Given the description of an element on the screen output the (x, y) to click on. 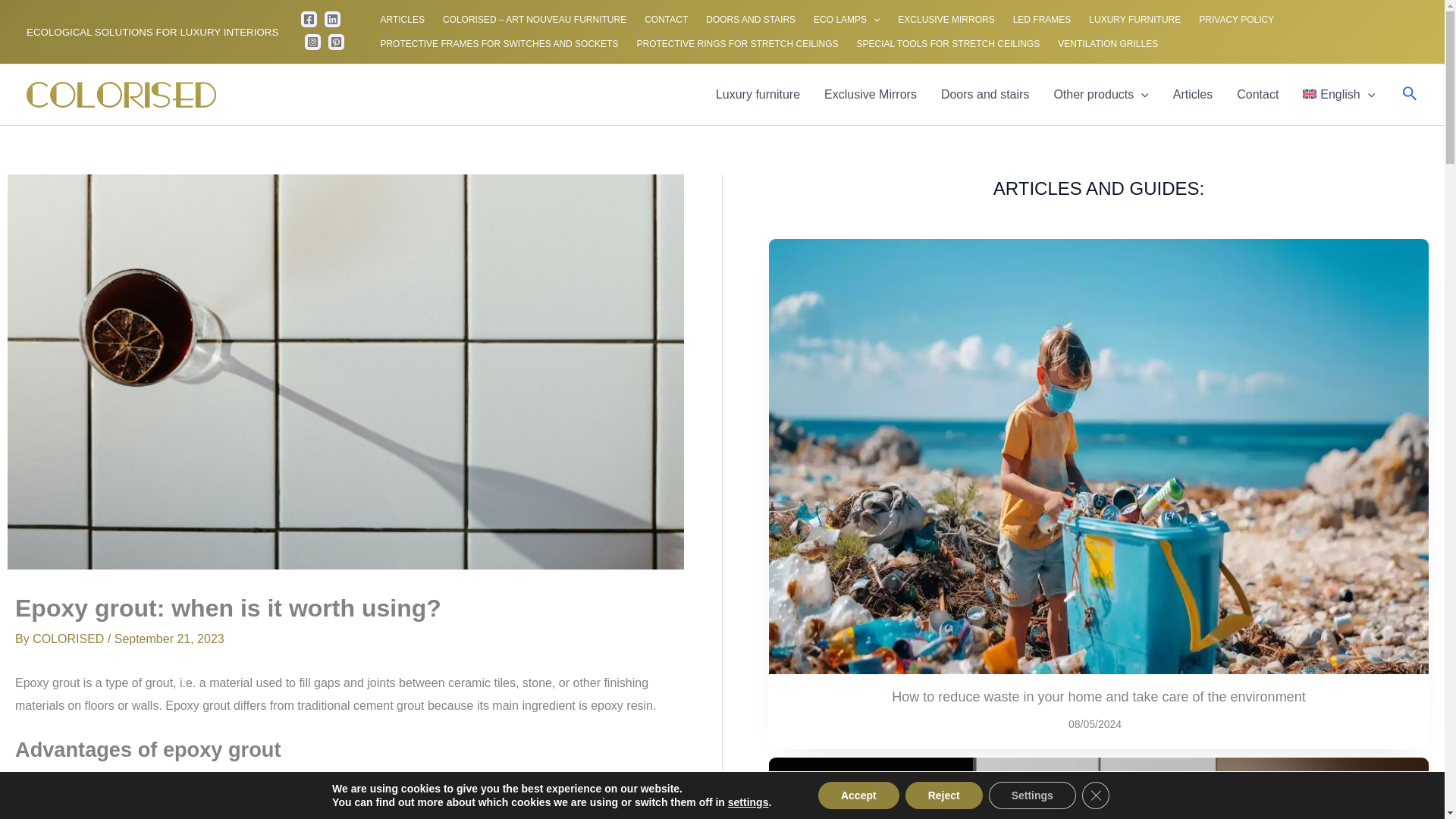
PRIVACY POLICY (1235, 19)
PROTECTIVE RINGS FOR STRETCH CEILINGS (737, 43)
SPECIAL TOOLS FOR STRETCH CEILINGS (948, 43)
CONTACT (665, 19)
DOORS AND STAIRS (751, 19)
Doors and stairs (985, 94)
LUXURY FURNITURE (1134, 19)
LED FRAMES (1042, 19)
Exclusive Mirrors (870, 94)
ECO LAMPS (846, 19)
